Given the description of an element on the screen output the (x, y) to click on. 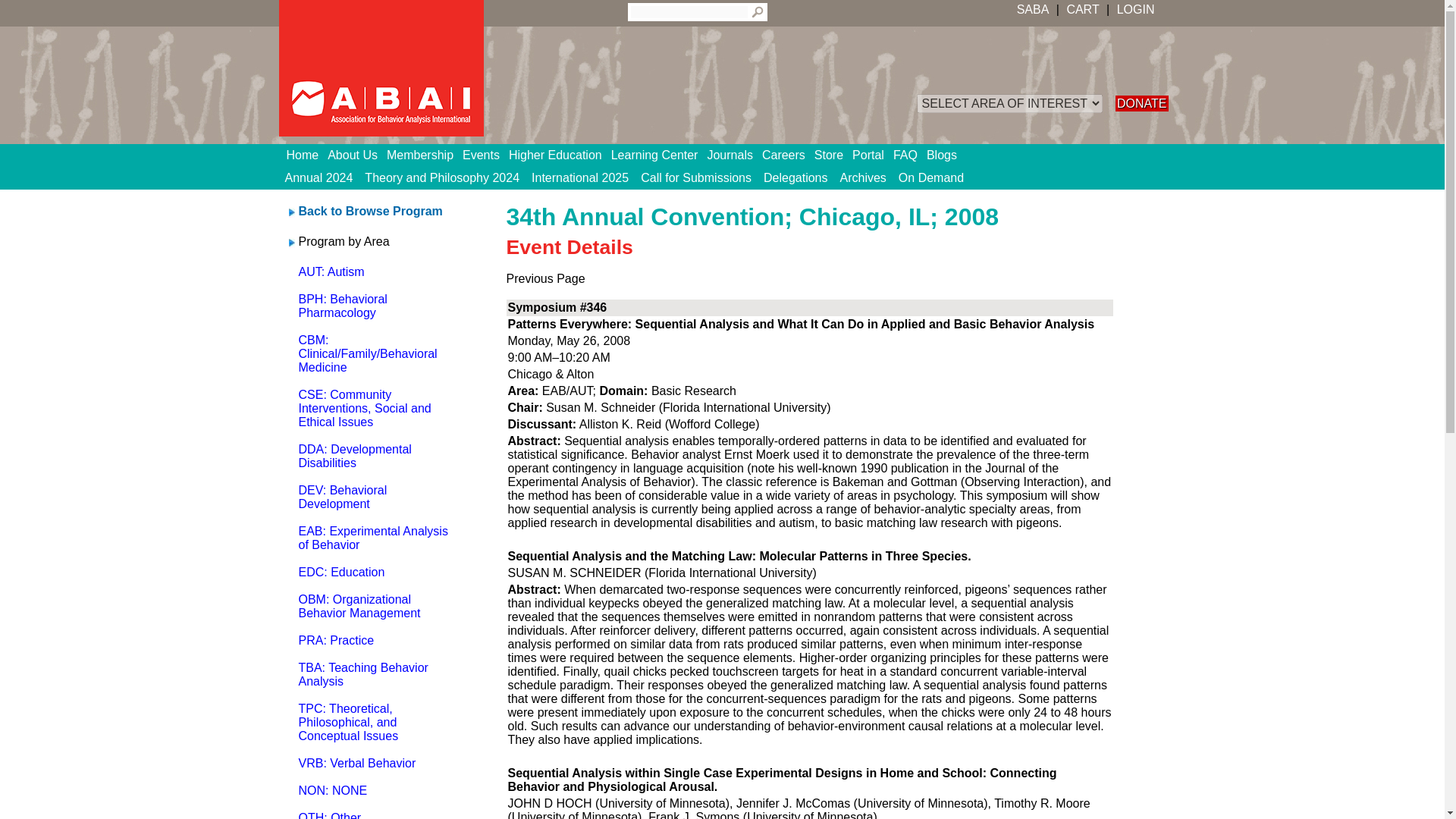
About Us (357, 155)
Archives (863, 178)
Theory and Philosophy 2024 (441, 178)
FAQ (909, 155)
International 2025 (579, 178)
Back to search (370, 210)
Events (485, 155)
Learning Center (659, 155)
Call for Submissions (695, 178)
Careers (787, 155)
Portal (872, 155)
Delegations (795, 178)
Annual 2024 (319, 178)
Back to Browse Program (370, 210)
Higher Education (559, 155)
